Given the description of an element on the screen output the (x, y) to click on. 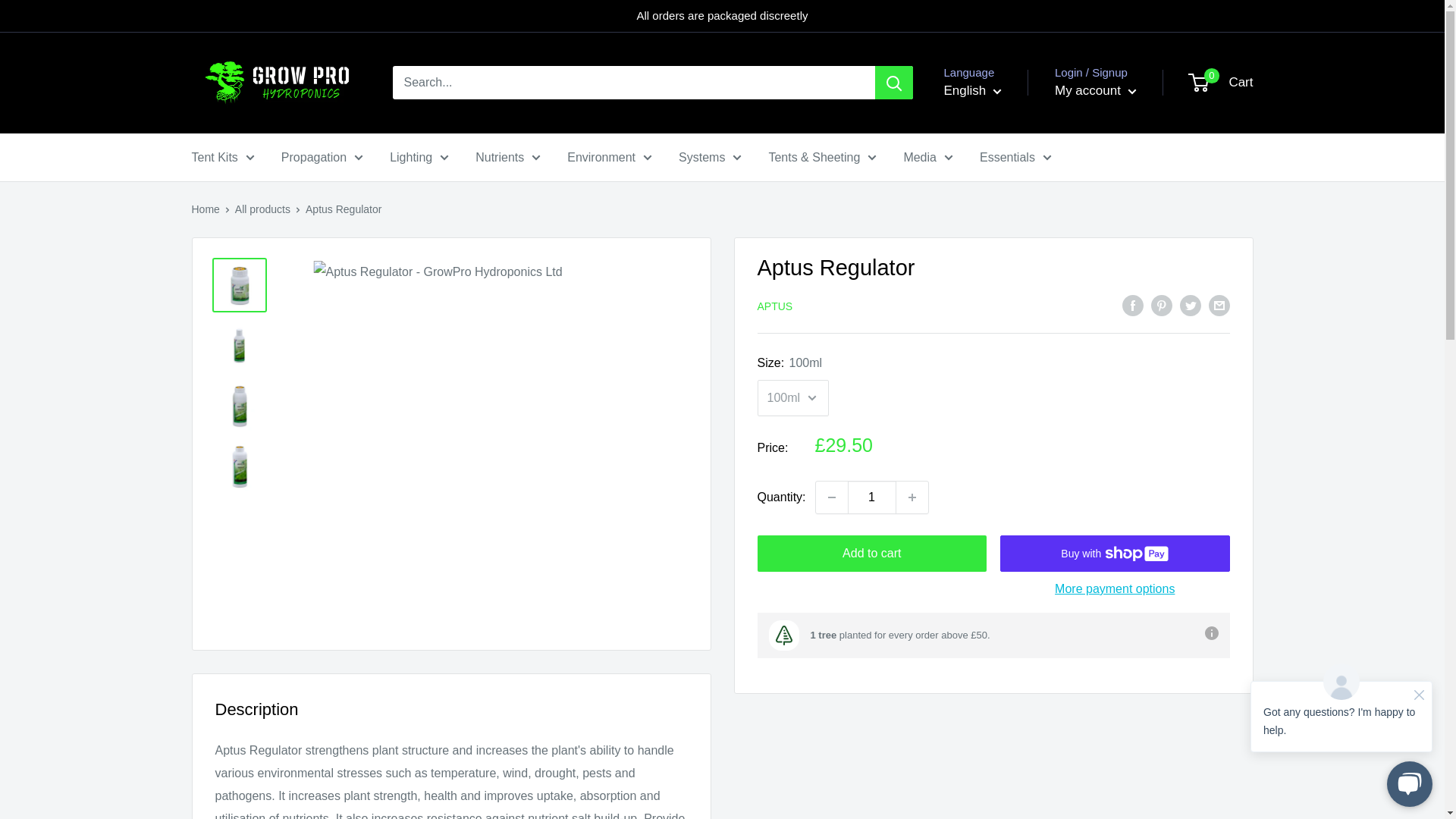
Decrease quantity by 1 (831, 497)
Increase quantity by 1 (912, 497)
All orders are packaged discreetly (722, 15)
1 (871, 497)
